Given the description of an element on the screen output the (x, y) to click on. 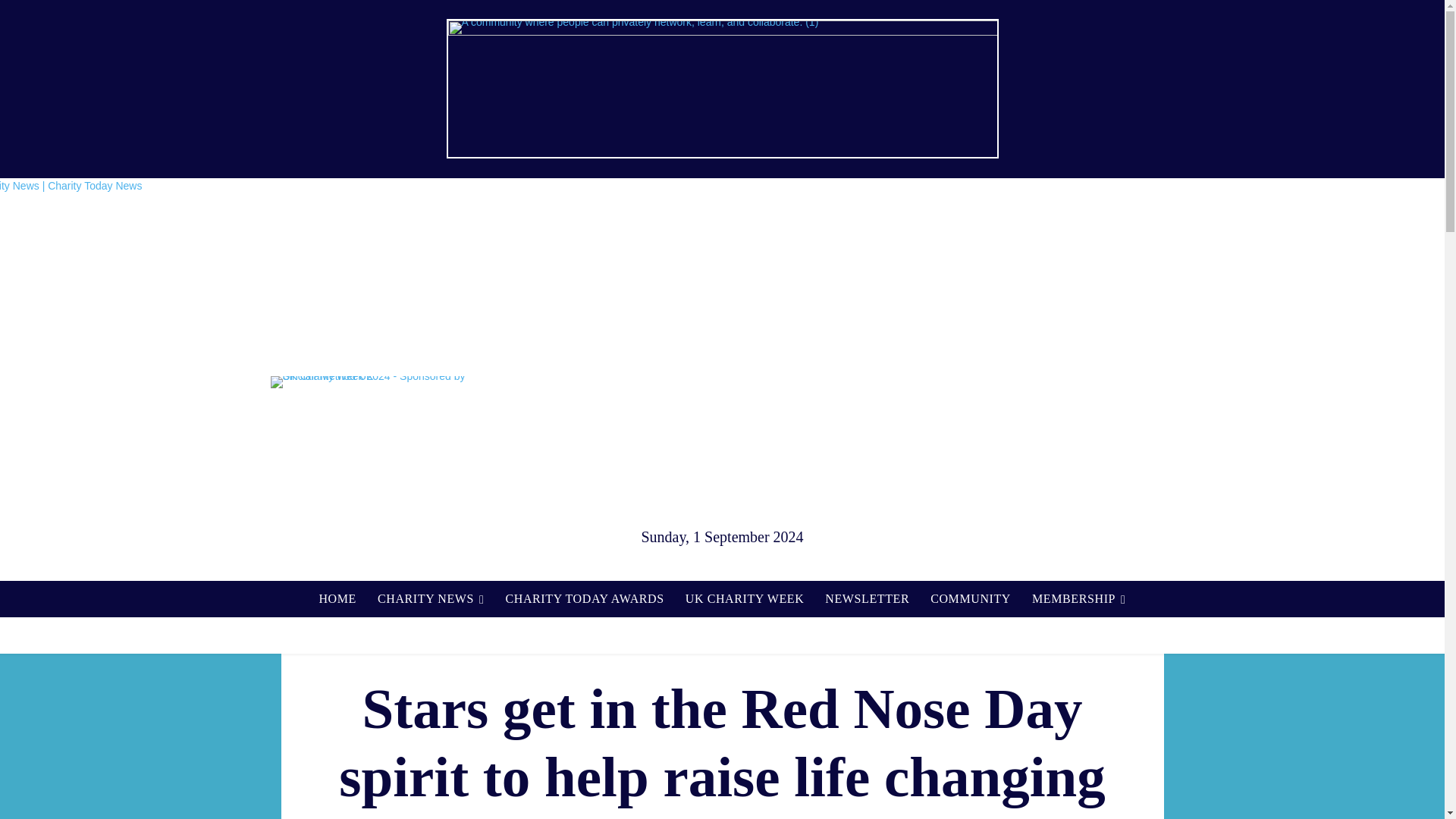
HOME (336, 598)
CHARITY NEWS (430, 598)
Charity Today Awards logo (1064, 382)
